Given the description of an element on the screen output the (x, y) to click on. 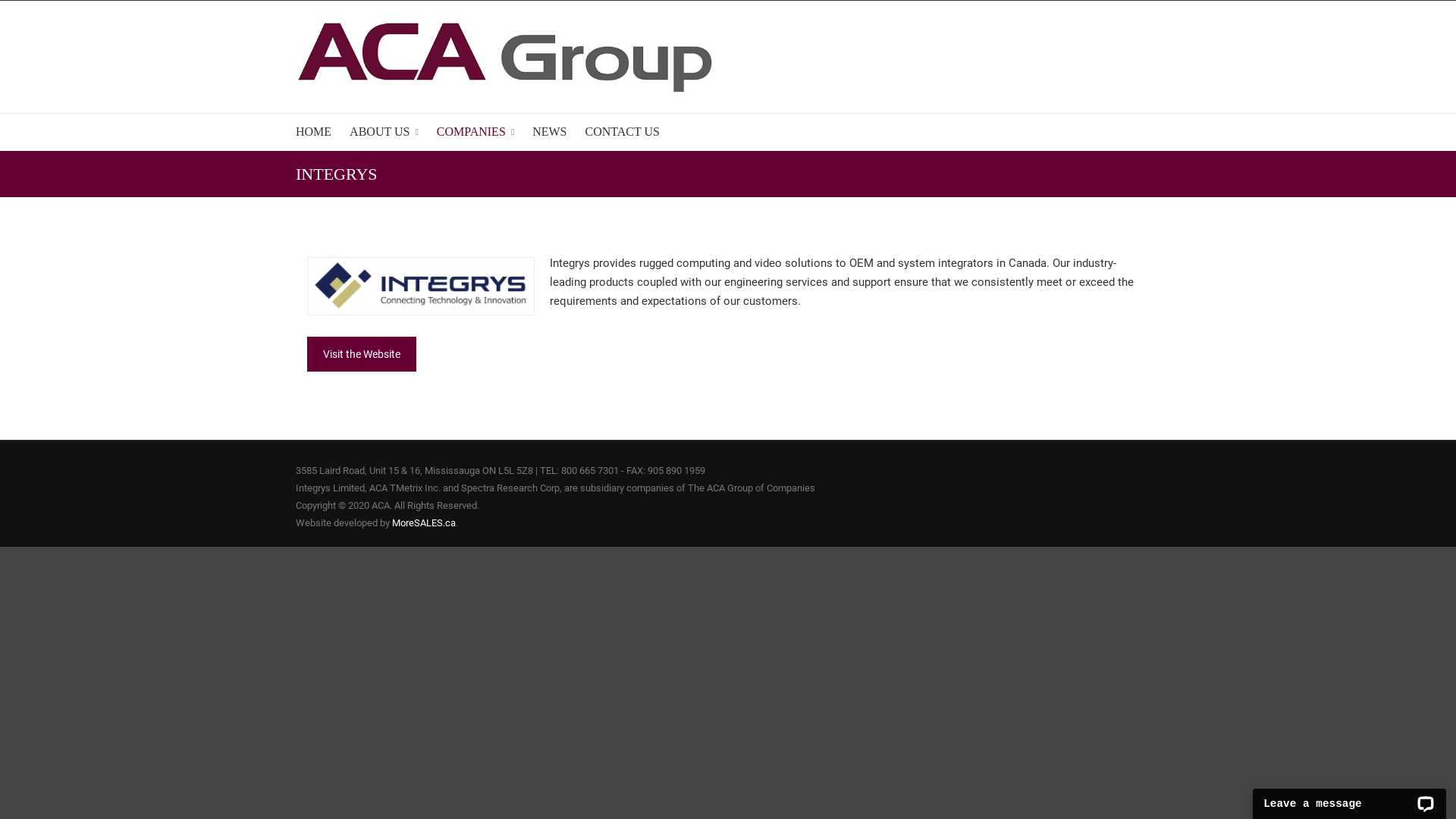
Visit the Website Element type: text (361, 353)
NEWS Element type: text (549, 131)
COMPANIES Element type: text (475, 131)
ABOUT US Element type: text (383, 131)
MoreSALES.ca Element type: text (423, 522)
CONTACT US Element type: text (622, 131)
HOME Element type: text (313, 131)
